Given the description of an element on the screen output the (x, y) to click on. 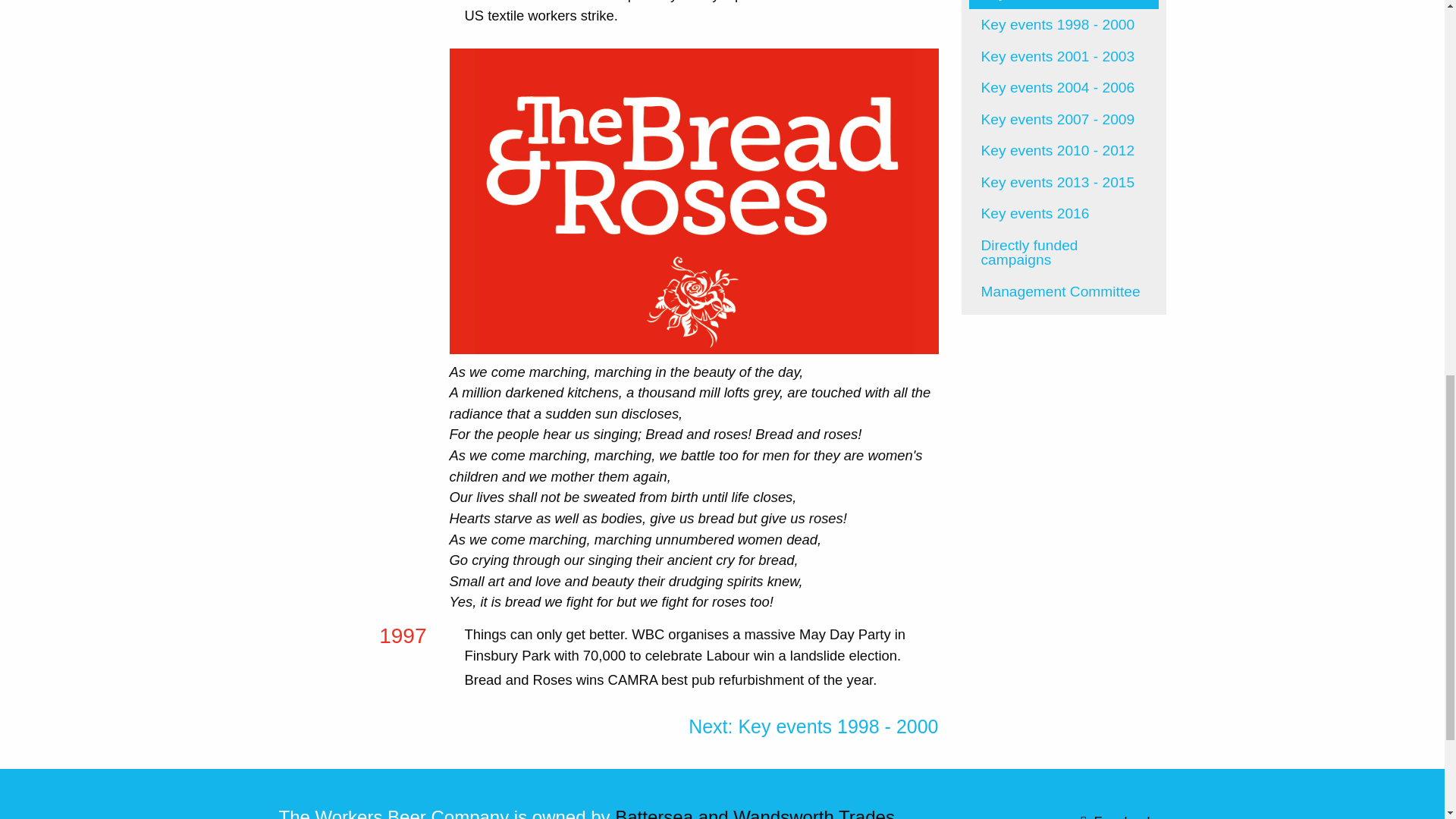
Directly funded campaigns (1063, 253)
Key events 2013 - 2015 (1063, 183)
Key events 2004 - 2006 (1063, 88)
Key events 2016 (1063, 214)
Facebook (1063, 812)
Key events 2001 - 2003 (1063, 56)
Key events 1995 - 1997 (1063, 4)
Key events 1998 - 2000 (1063, 24)
Battersea and Wandsworth Trades Union Council (587, 812)
Management Committee (1063, 291)
